Given the description of an element on the screen output the (x, y) to click on. 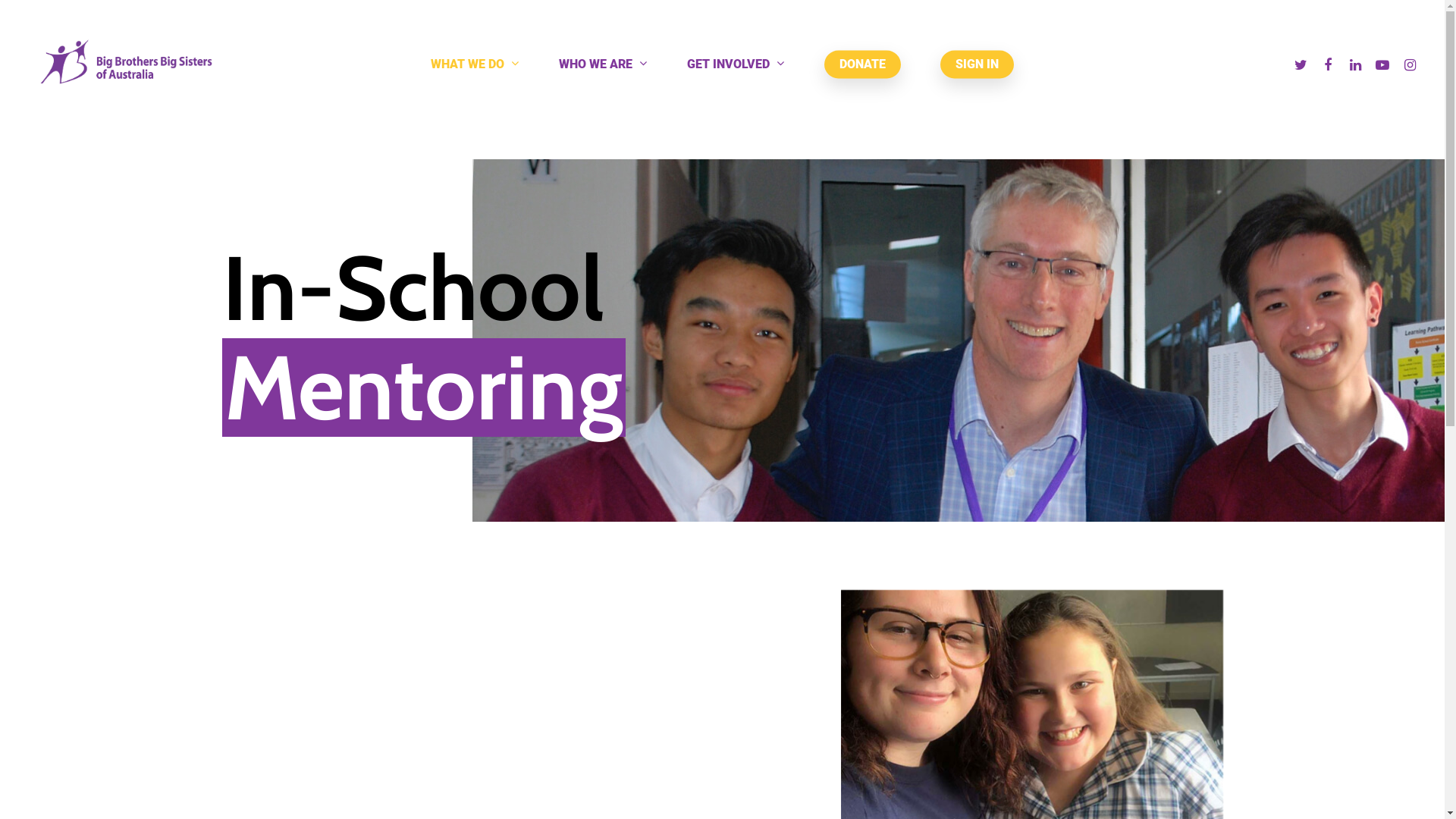
DONATE Element type: text (862, 64)
WHAT WE DO Element type: text (475, 64)
WHO WE ARE Element type: text (603, 64)
GET INVOLVED Element type: text (735, 64)
SIGN IN Element type: text (976, 64)
